Given the description of an element on the screen output the (x, y) to click on. 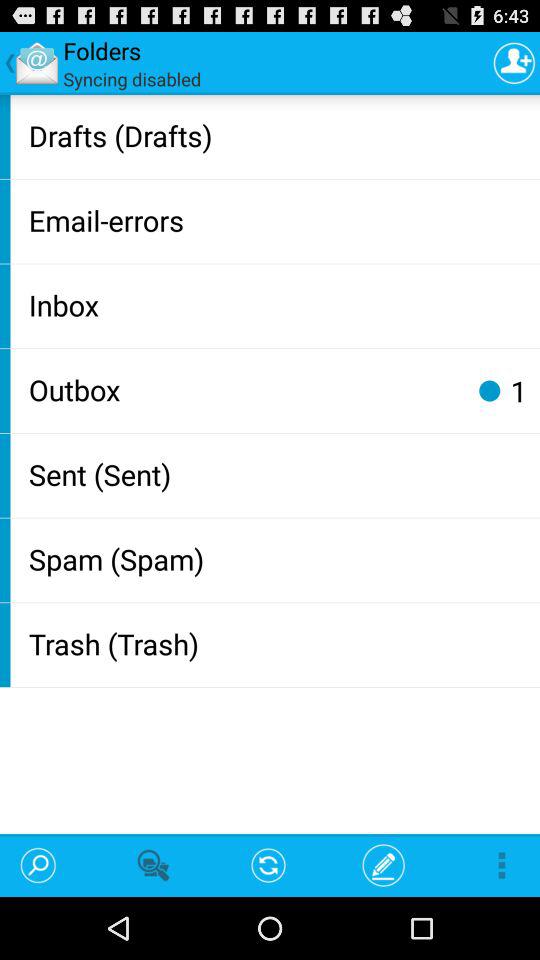
flip until the trash (trash) app (280, 643)
